Given the description of an element on the screen output the (x, y) to click on. 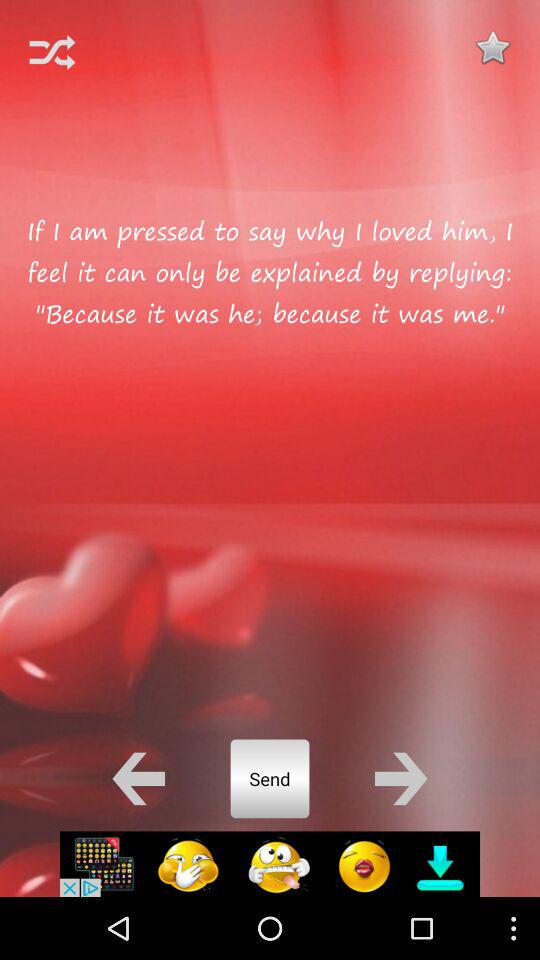
go back (138, 778)
